Given the description of an element on the screen output the (x, y) to click on. 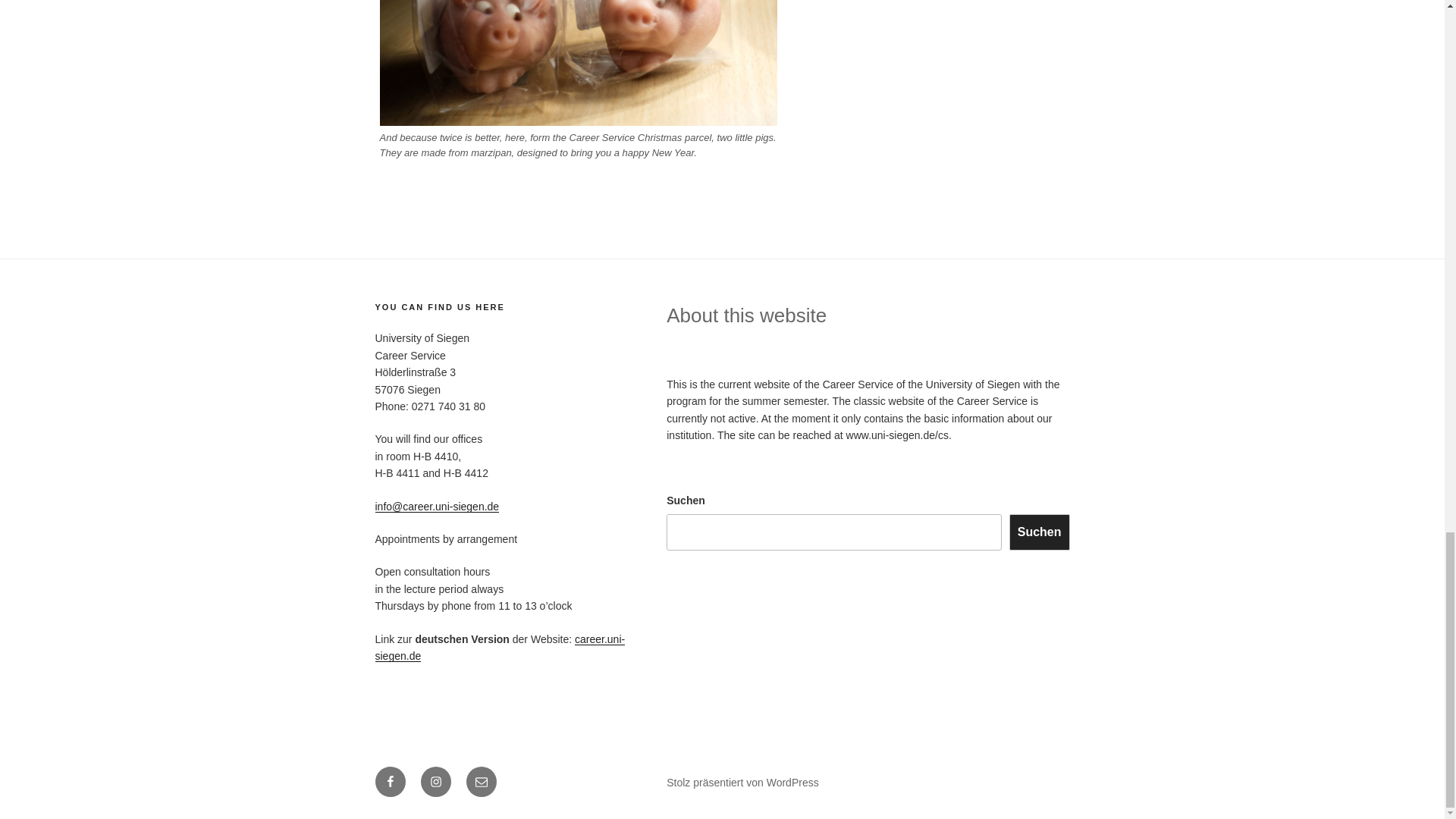
career.uni-siegen.de (499, 647)
Suchen (1039, 532)
